Given the description of an element on the screen output the (x, y) to click on. 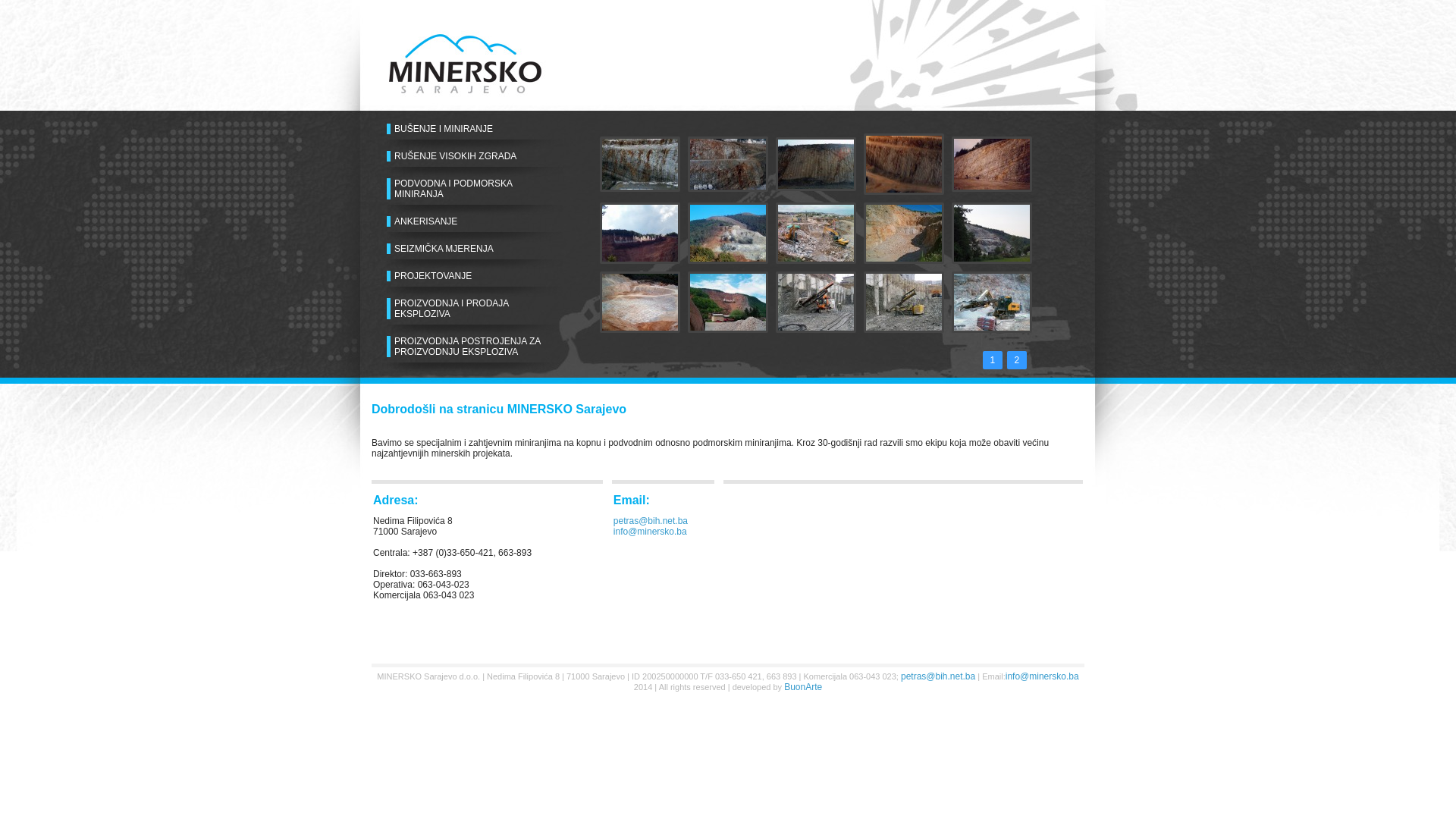
BuonArte Element type: text (803, 686)
info@minersko.ba Element type: text (650, 531)
petras@bih.net.ba Element type: text (650, 520)
1 Element type: text (992, 359)
petras@bih.net.ba Element type: text (937, 676)
info@minersko.ba Element type: text (1042, 676)
2 Element type: text (1016, 359)
